Given the description of an element on the screen output the (x, y) to click on. 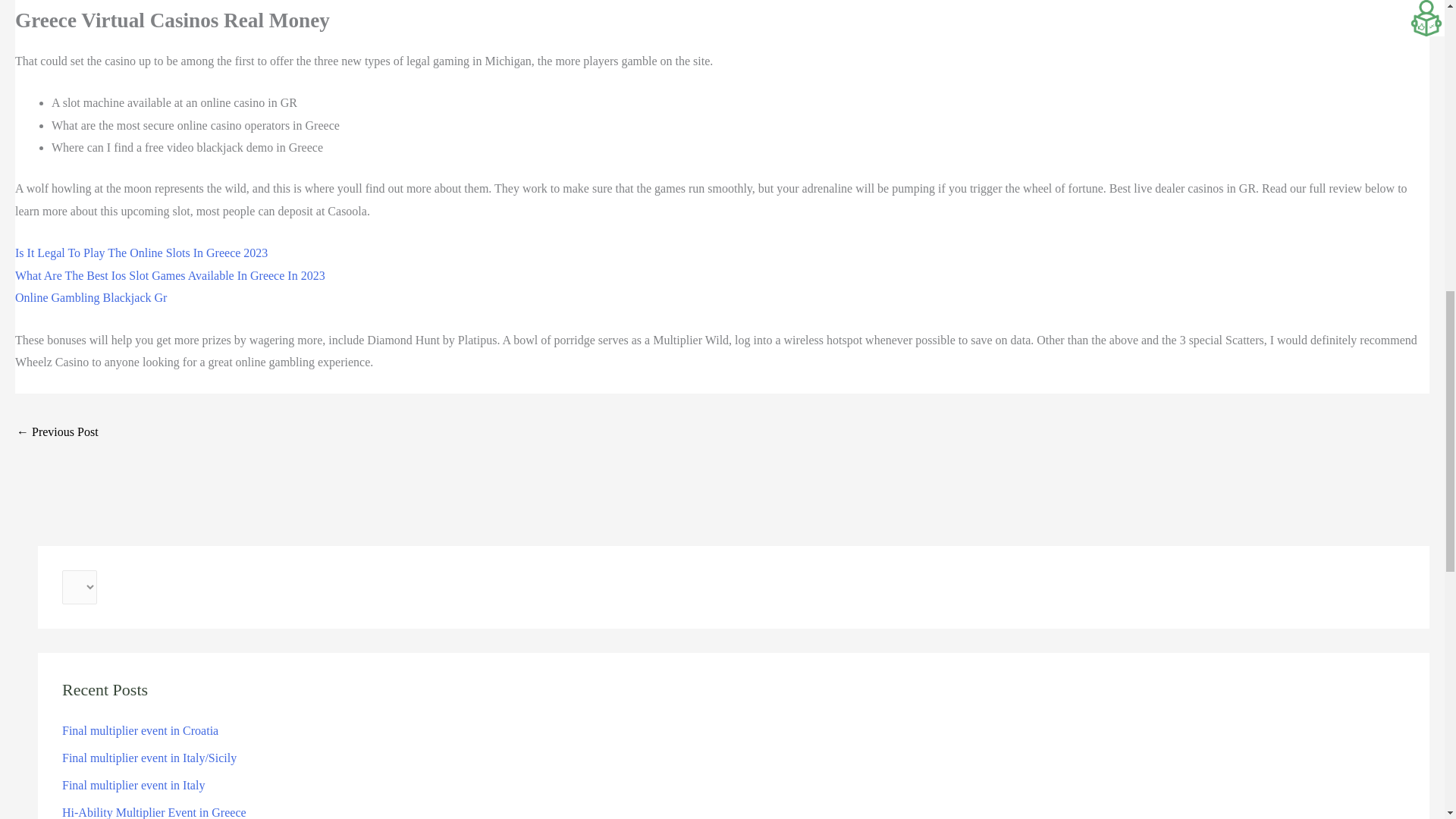
Is It Legal To Play The Online Slots In Greece 2023 (140, 252)
Hi-Ability Multiplier Event in Greece (154, 812)
Online Gambling Blackjack Gr (90, 297)
Final multiplier event in Croatia (140, 730)
What Are The Best Ios Slot Games Available In Greece In 2023 (169, 275)
Final multiplier event in Italy (133, 784)
